Given the description of an element on the screen output the (x, y) to click on. 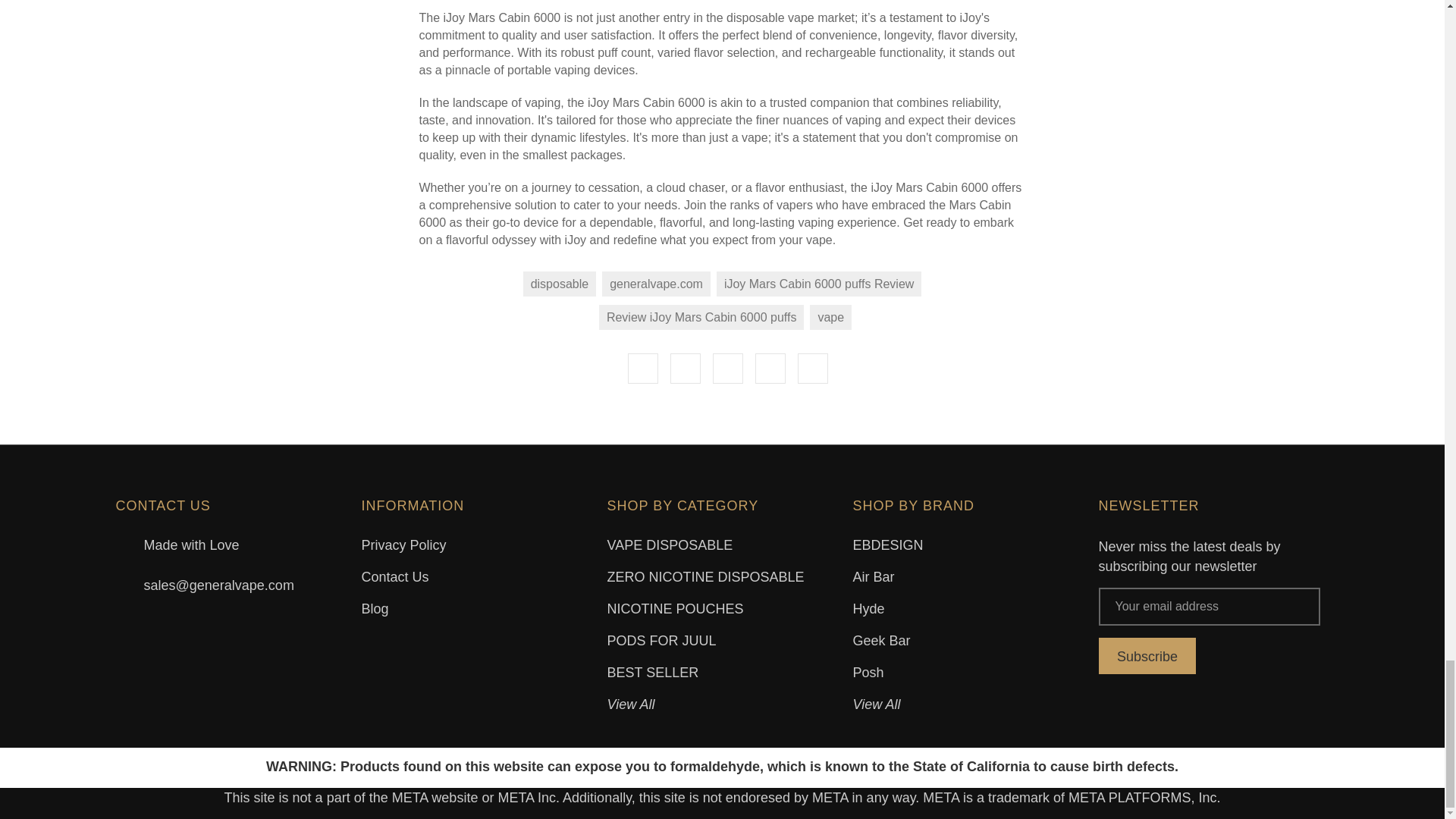
Print (727, 368)
Pinterest (812, 368)
Subscribe (1146, 656)
Facebook (642, 368)
Email (684, 368)
Twitter (770, 368)
